Given the description of an element on the screen output the (x, y) to click on. 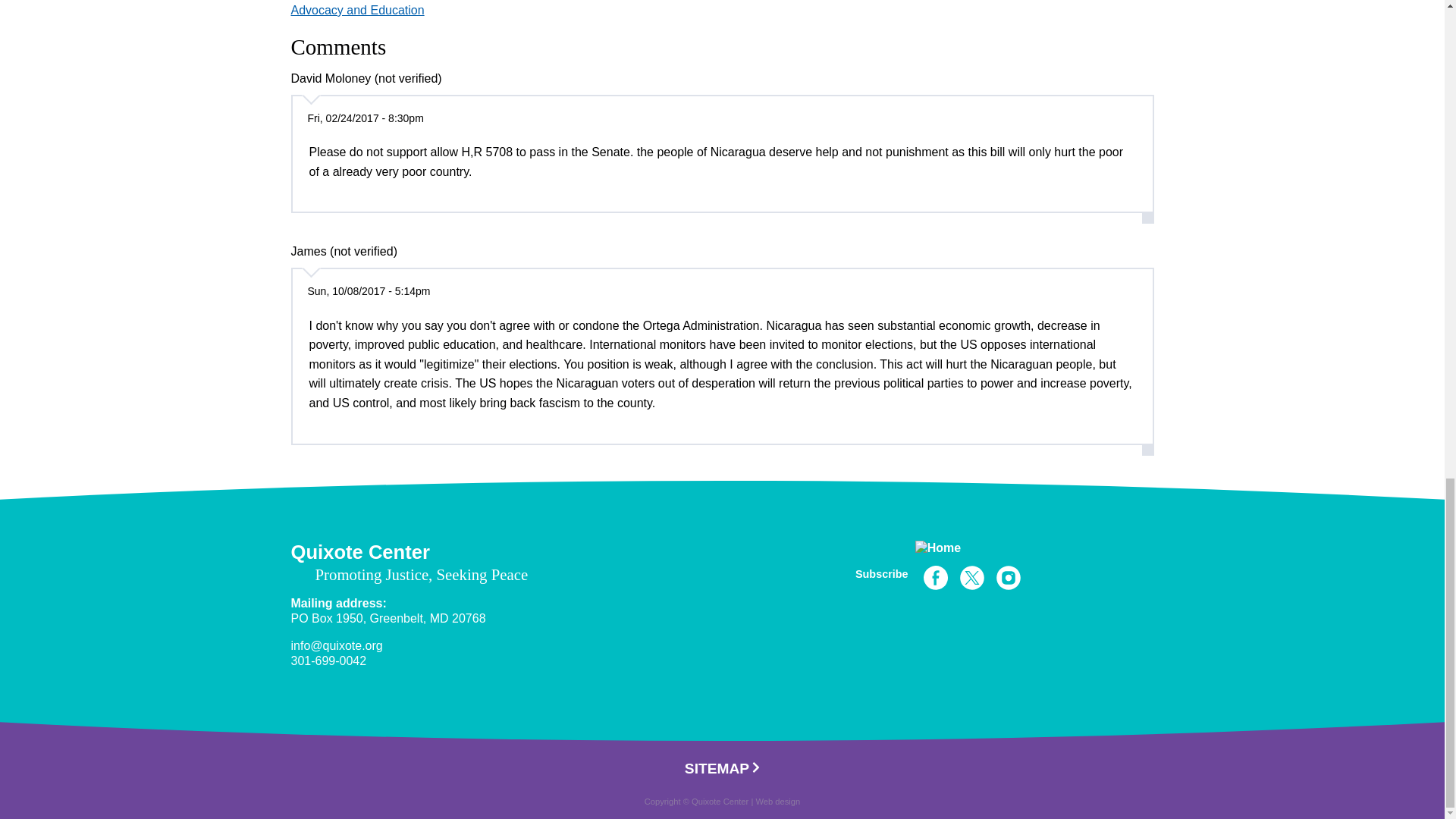
Nonprofit web design (777, 800)
Subscribe (882, 573)
Advocacy and Education (358, 10)
